Given the description of an element on the screen output the (x, y) to click on. 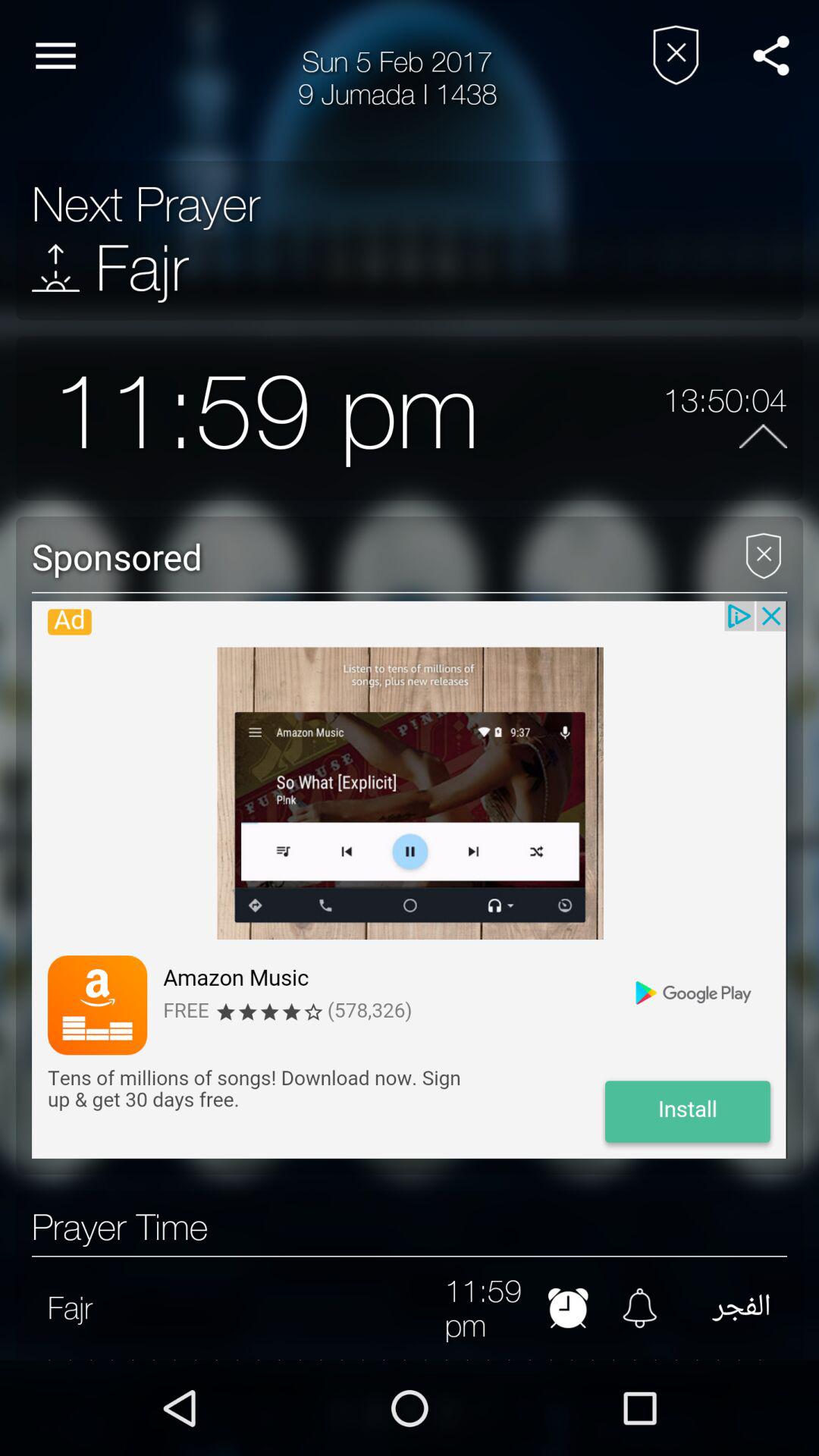
select item to the right of fajr item (268, 1307)
